Given the description of an element on the screen output the (x, y) to click on. 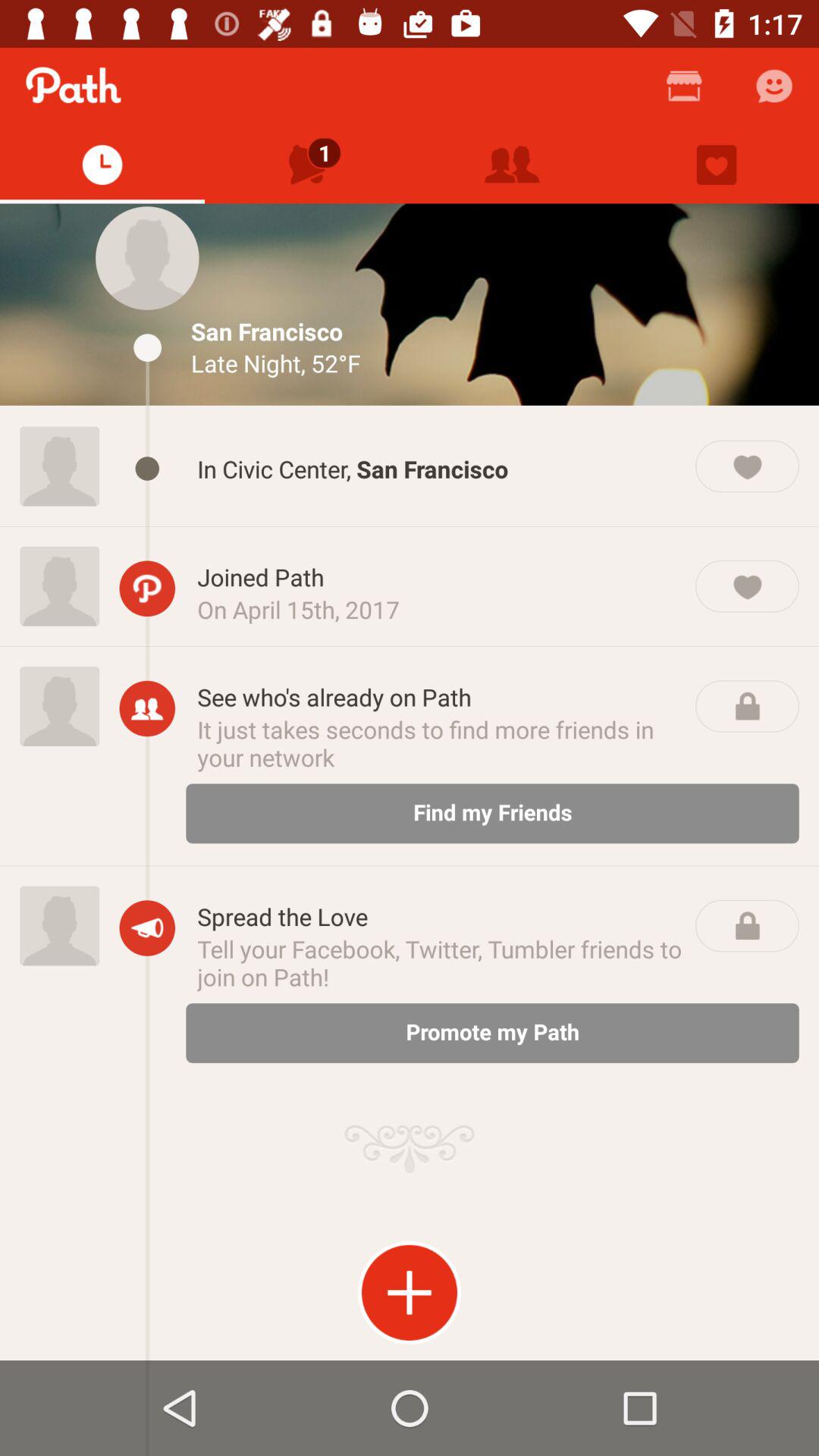
click on second lock button from top (747, 925)
click on first text left to lock icon (440, 697)
select third image from bottom (59, 586)
heart icon right to the text san francisco (747, 466)
first text right to pinterest icon (440, 576)
click on like option which is right top corner (716, 164)
select t he account icon in the middle (147, 708)
select the button right to 4th image from bottom (147, 468)
